Given the description of an element on the screen output the (x, y) to click on. 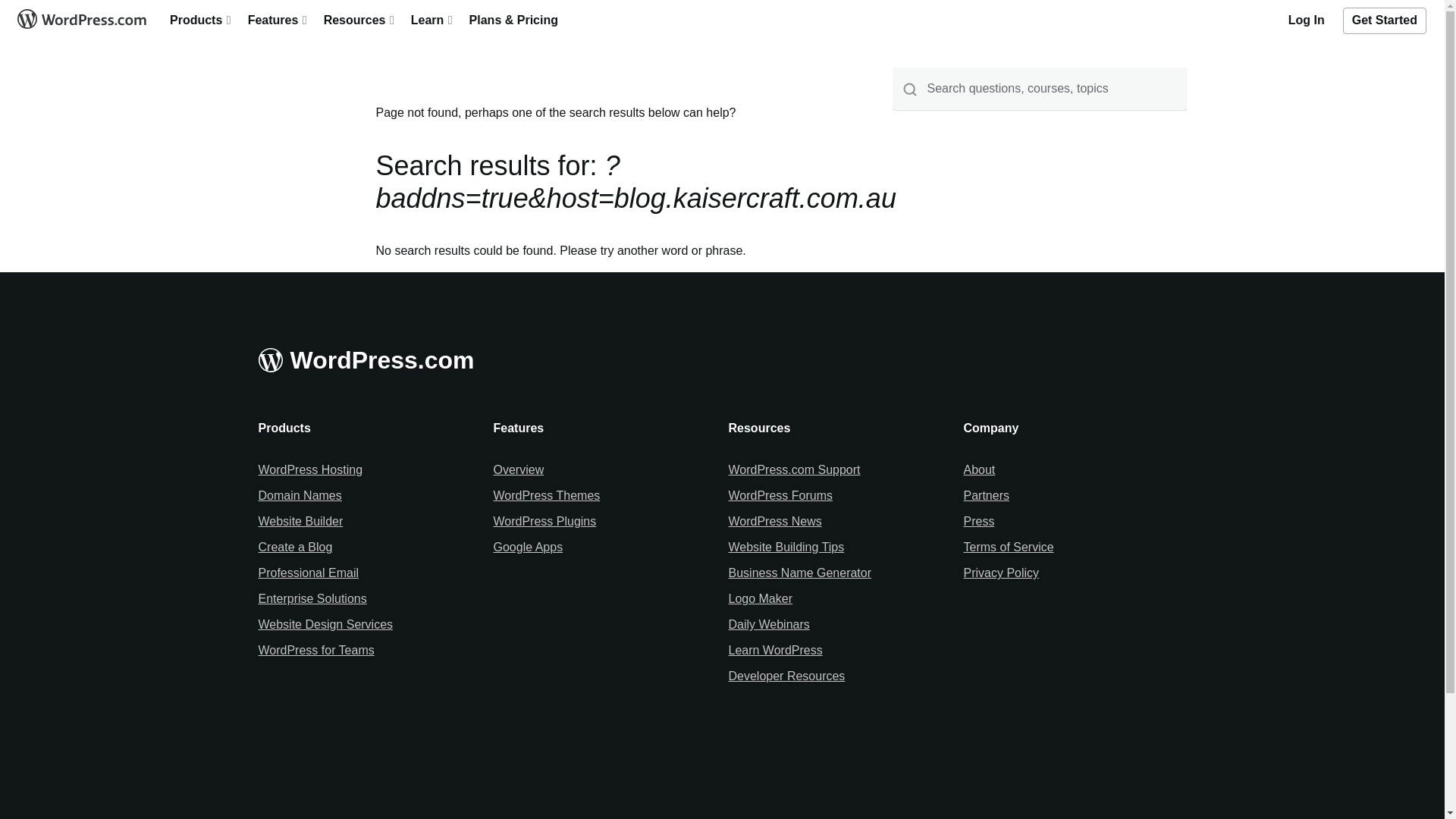
Features Element type: text (276, 17)
Log In Element type: text (1306, 17)
WordPress Hosting Element type: text (309, 469)
Enterprise Solutions Element type: text (311, 598)
WordPress Plugins Element type: text (544, 520)
Learn WordPress Element type: text (775, 649)
Business Name Generator Element type: text (799, 572)
Privacy Policy Element type: text (1000, 572)
WordPress Forums Element type: text (780, 495)
Daily Webinars Element type: text (768, 624)
WordPress Themes Element type: text (545, 495)
Learn Element type: text (430, 17)
WordPress.com Element type: text (80, 17)
Developer Resources Element type: text (786, 675)
Create a Blog Element type: text (294, 546)
Get Started Element type: text (1388, 17)
Logo Maker Element type: text (760, 598)
Website Design Services Element type: text (324, 624)
WordPress News Element type: text (774, 520)
Products Element type: text (199, 17)
Press Element type: text (978, 520)
WordPress for Teams Element type: text (315, 649)
Plans & Pricing Element type: text (513, 17)
Domain Names Element type: text (299, 495)
Terms of Service Element type: text (1008, 546)
Professional Email Element type: text (307, 572)
About Element type: text (978, 469)
Website Builder Element type: text (299, 520)
Resources Element type: text (357, 17)
Google Apps Element type: text (527, 546)
Overview Element type: text (517, 469)
WordPress.com Support Element type: text (793, 469)
Website Building Tips Element type: text (786, 546)
Partners Element type: text (985, 495)
